Given the description of an element on the screen output the (x, y) to click on. 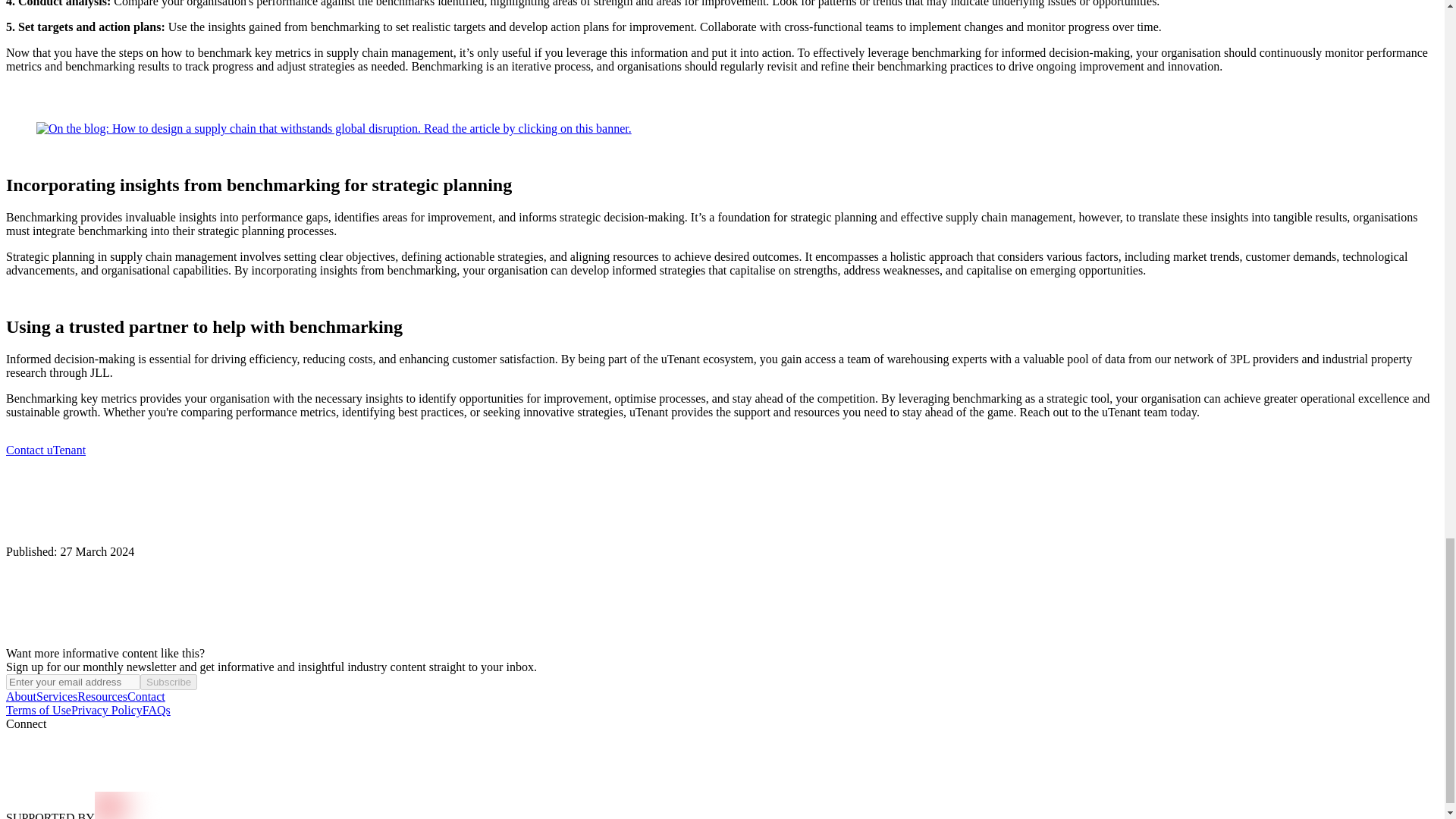
Contact uTenant (45, 449)
Services (56, 696)
Subscribe (167, 682)
Resources (102, 696)
About (20, 696)
